Given the description of an element on the screen output the (x, y) to click on. 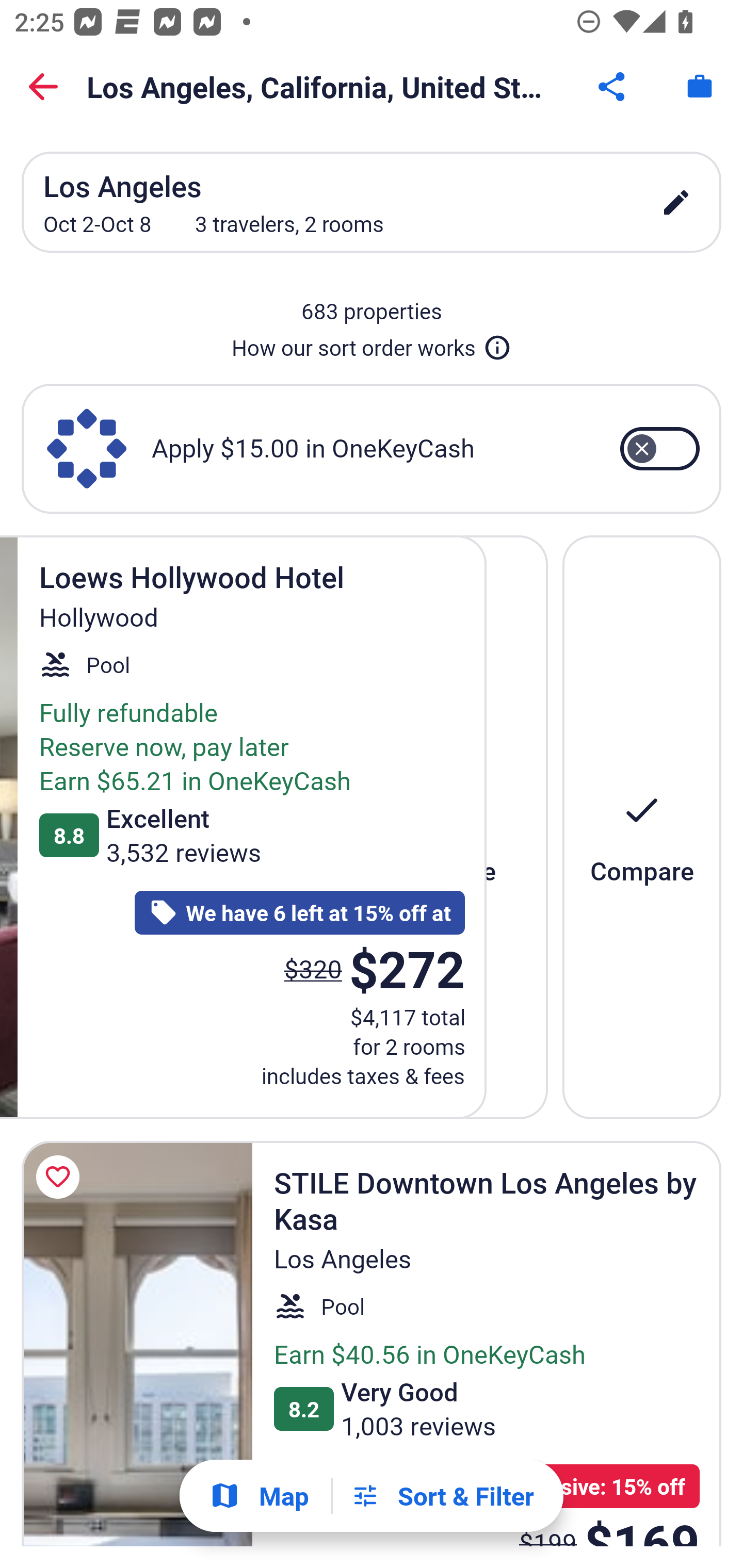
Back (43, 86)
Share Button (612, 86)
Trips. Button (699, 86)
Los Angeles Oct 2-Oct 8 3 travelers, 2 rooms edit (371, 202)
How our sort order works (371, 344)
Save STILE Downtown Los Angeles by Kasa to a trip (61, 1176)
STILE Downtown Los Angeles by Kasa (136, 1343)
Filters Sort & Filter Filters Button (442, 1495)
Show map Map Show map Button (258, 1495)
